Given the description of an element on the screen output the (x, y) to click on. 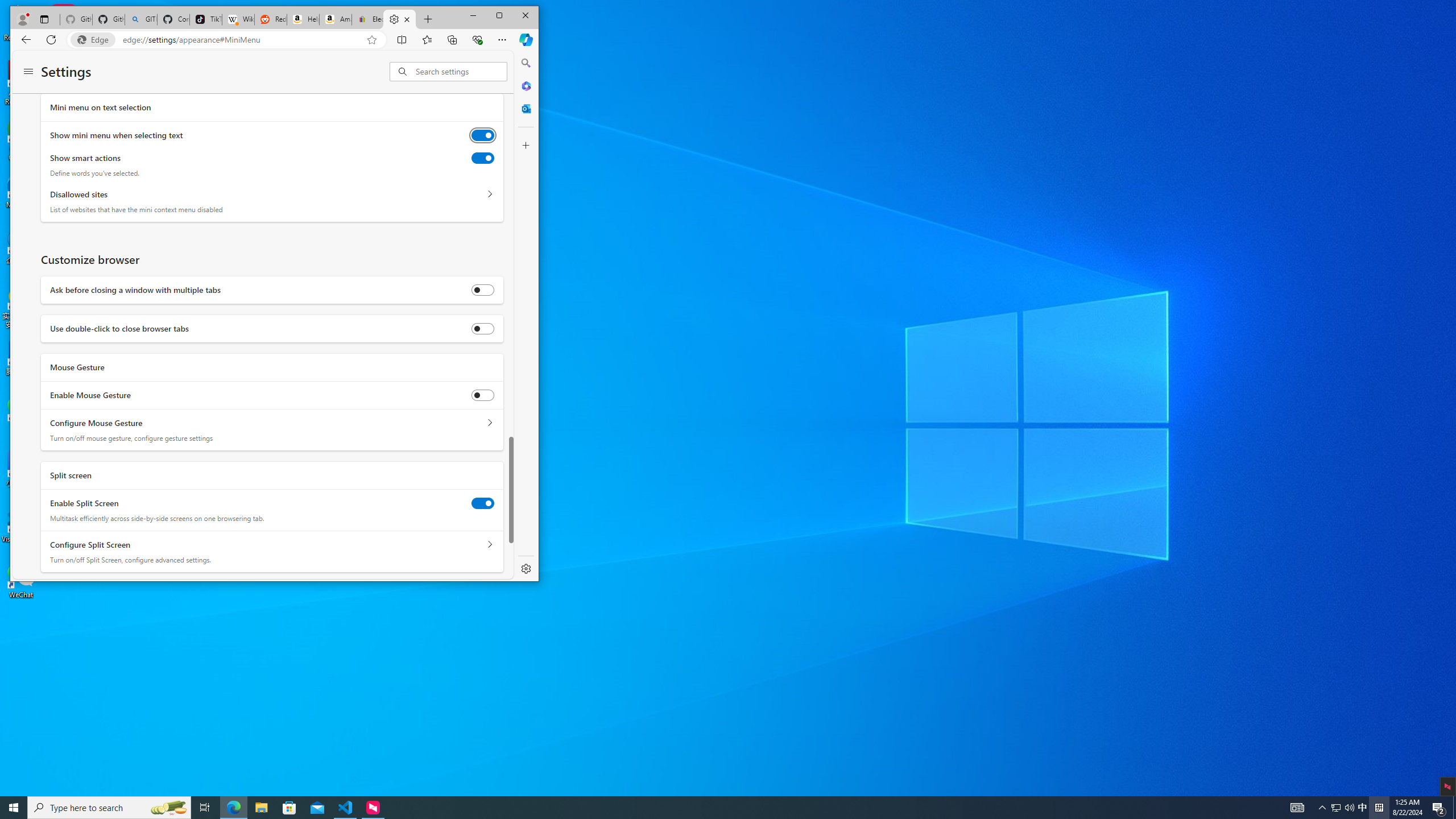
Tray Input Indicator - Chinese (Simplified, China) (1378, 807)
Enable Split Screen (482, 503)
AutomationID: 4105 (1297, 807)
Enable Mouse Gesture (482, 395)
Show smart actions (482, 157)
Microsoft Store (289, 807)
Settings menu (28, 72)
Notification Chevron (1322, 807)
